Given the description of an element on the screen output the (x, y) to click on. 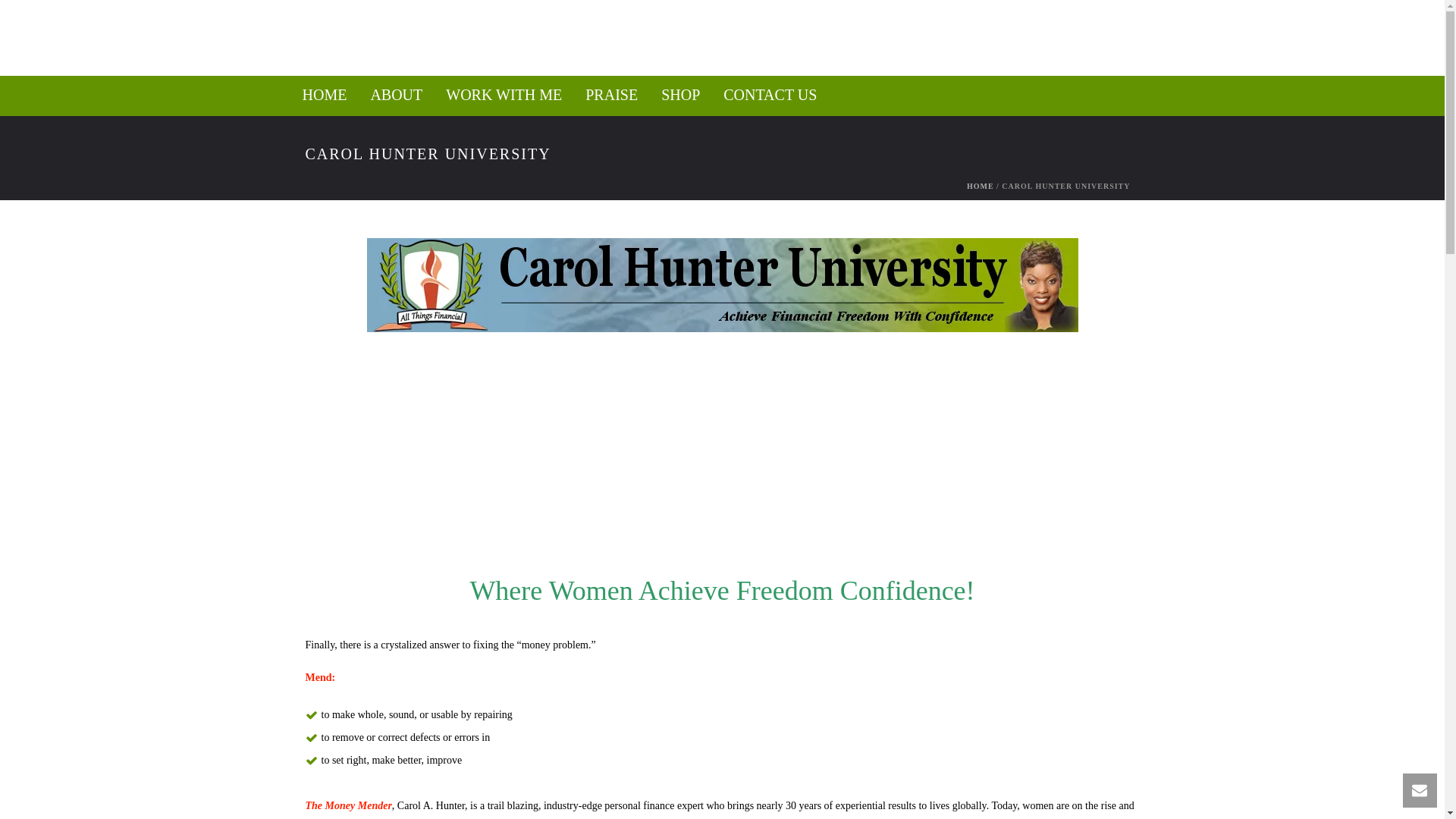
PRAISE (611, 95)
SHOP (680, 95)
HOME (980, 185)
CONTACT US (769, 95)
WORK WITH ME (503, 95)
HOME (324, 95)
ABOUT (395, 95)
PRAISE (611, 95)
HOME (324, 95)
WORK WITH ME (503, 95)
